Given the description of an element on the screen output the (x, y) to click on. 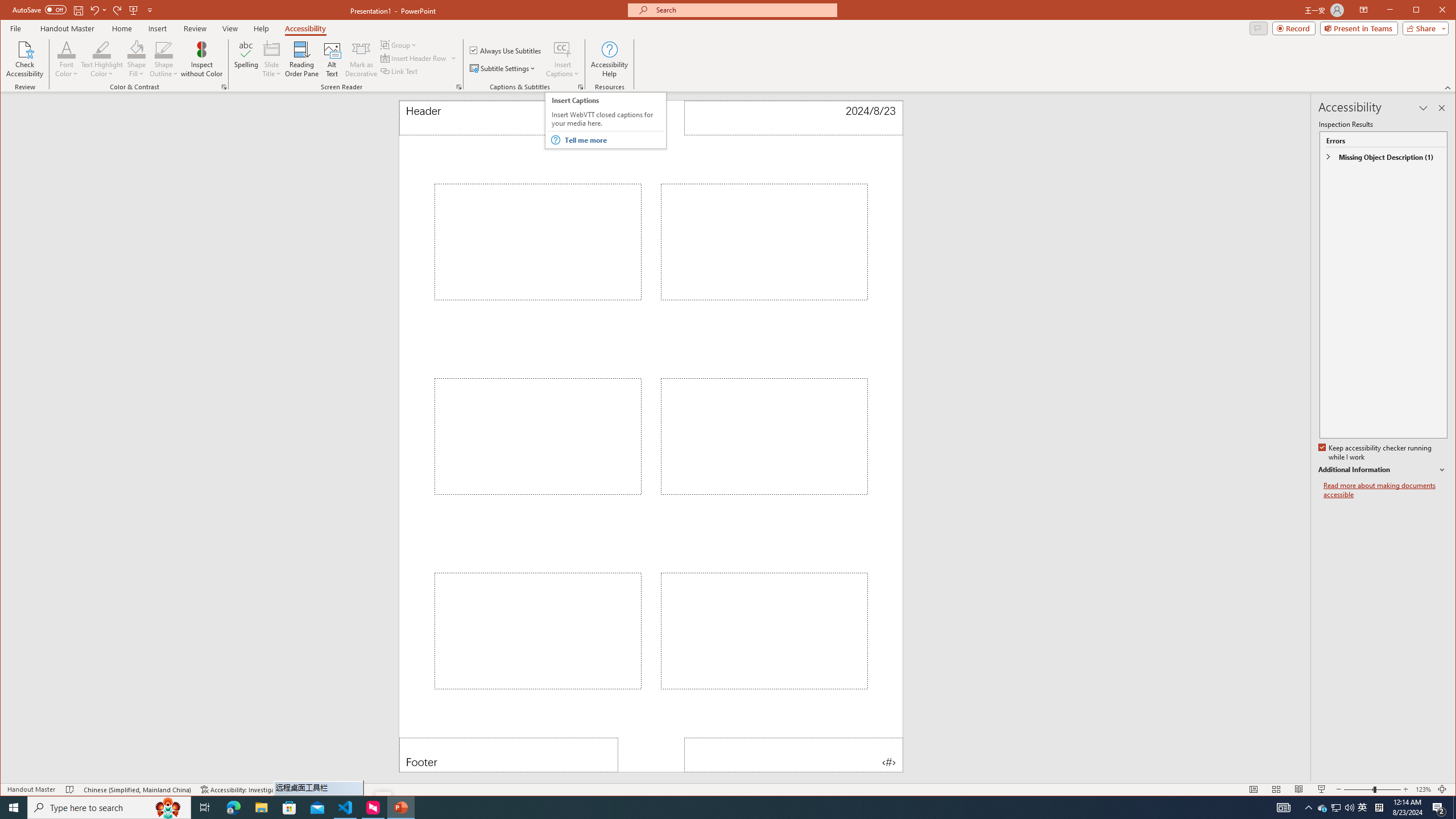
Check Accessibility (25, 59)
Slide Title (271, 48)
Action Center, 2 new notifications (1439, 807)
Running applications (700, 807)
Date (793, 117)
